Given the description of an element on the screen output the (x, y) to click on. 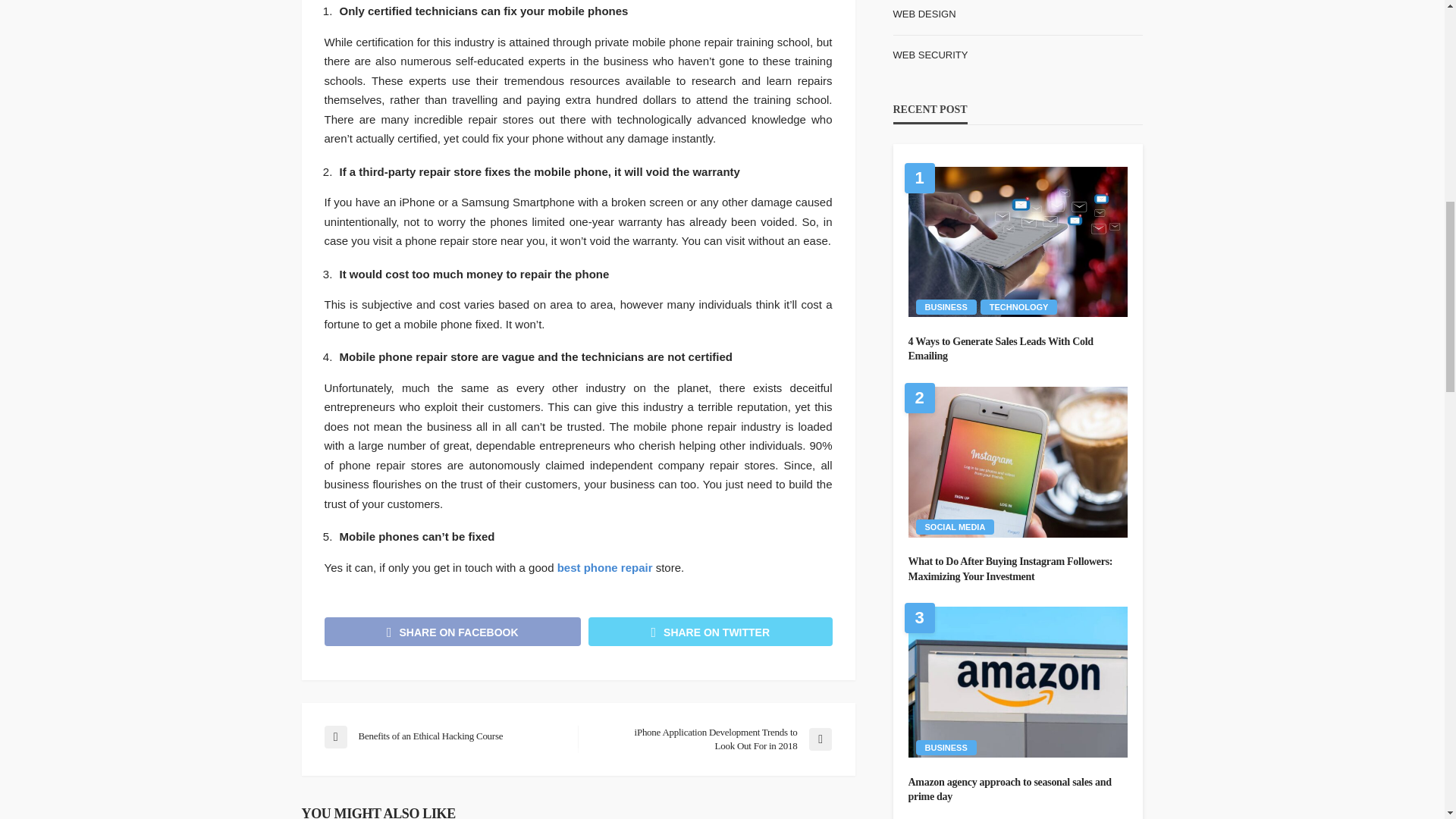
Benefits of an Ethical Hacking Course (443, 736)
SHARE ON FACEBOOK (452, 631)
SHARE ON TWITTER (709, 631)
Benefits of an Ethical Hacking Course (443, 736)
best phone repair (604, 567)
